Given the description of an element on the screen output the (x, y) to click on. 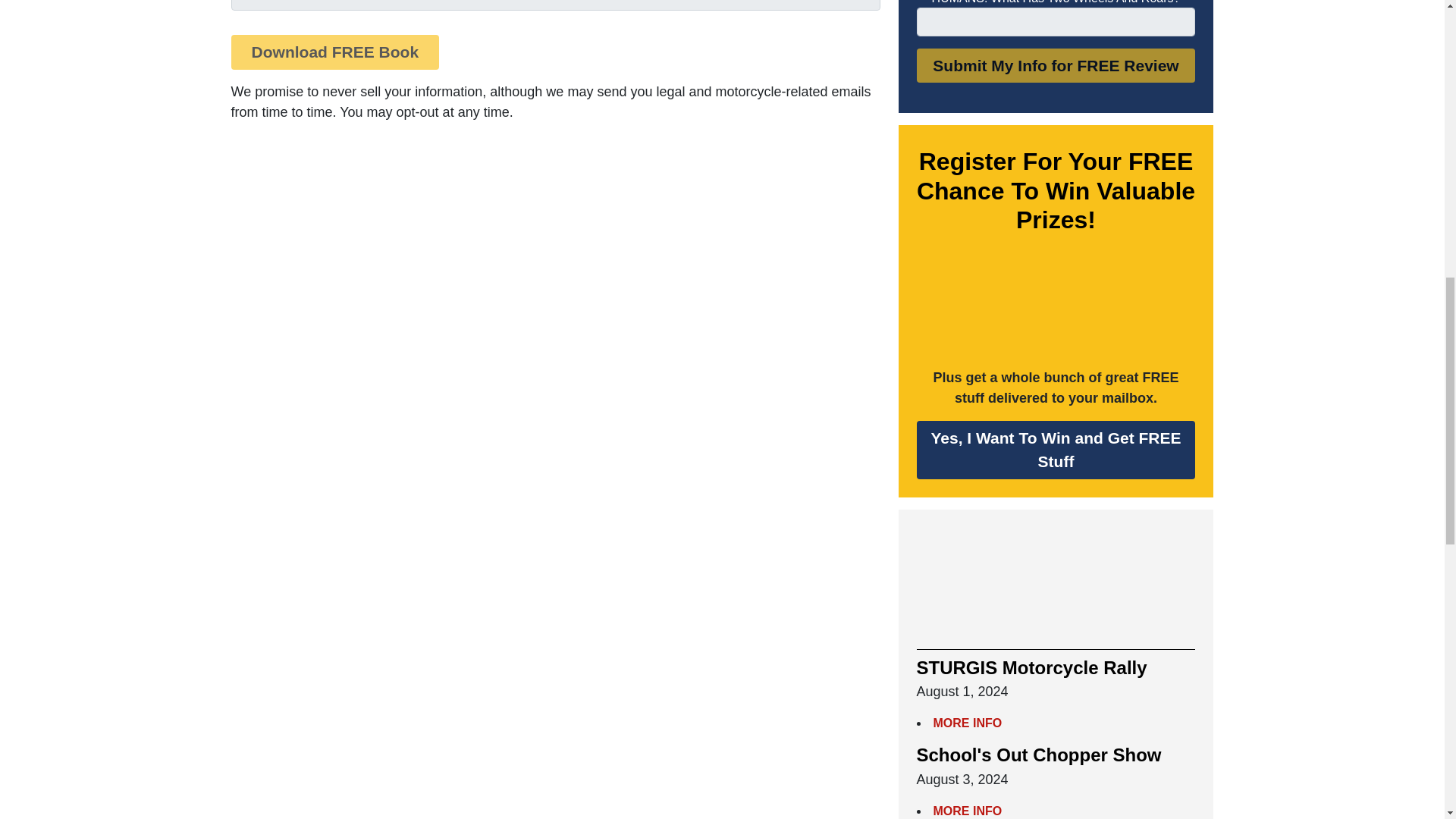
Download FREE Book (334, 52)
Yes, I Want To Win and Get FREE Stuff (1055, 449)
Submit My Info for FREE Review (1055, 65)
Submit My Info for FREE Review (1055, 65)
Download FREE Book (334, 52)
MORE INFO (967, 722)
MORE INFO (967, 810)
